Given the description of an element on the screen output the (x, y) to click on. 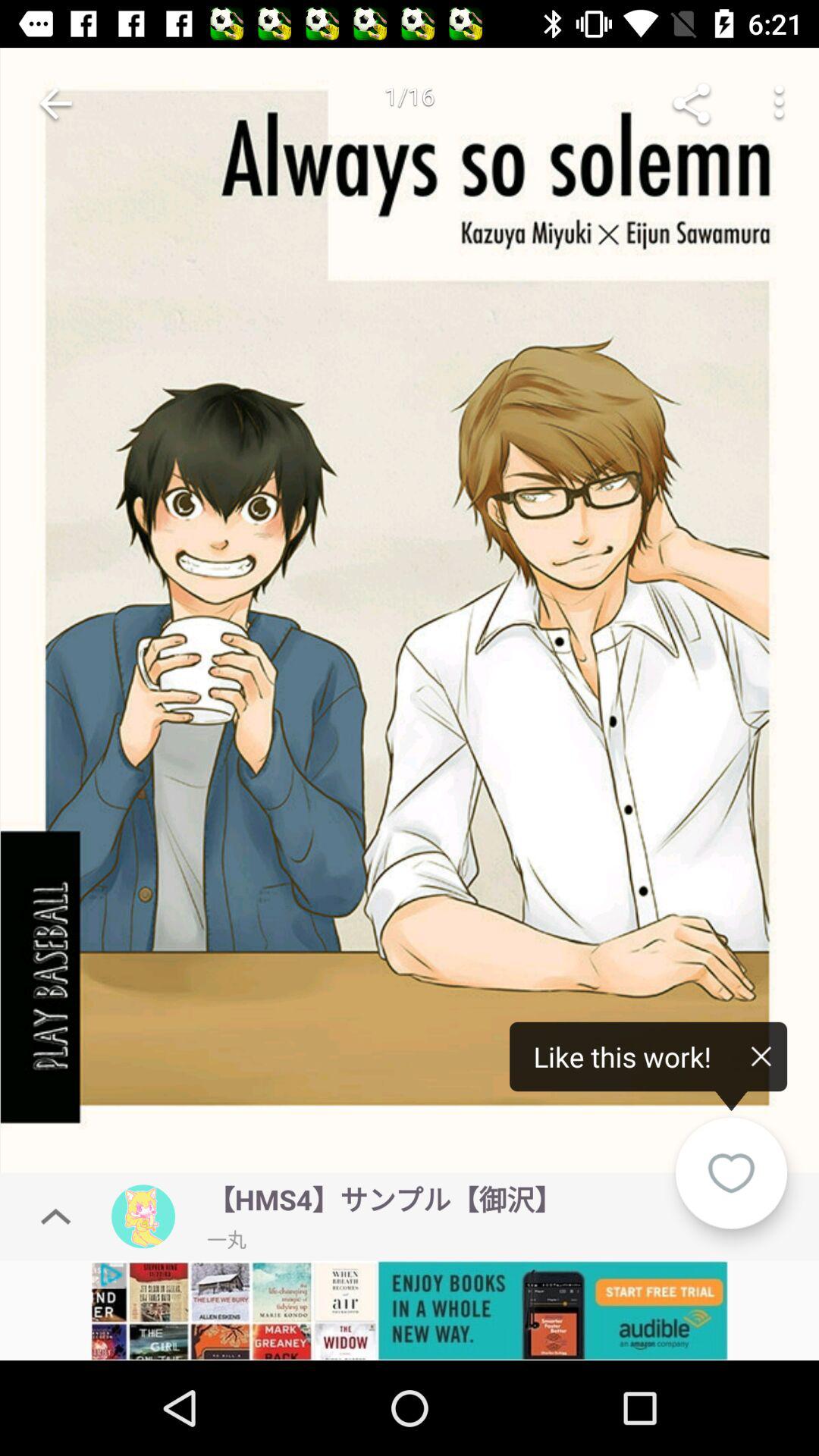
click here to like this (409, 614)
